Given the description of an element on the screen output the (x, y) to click on. 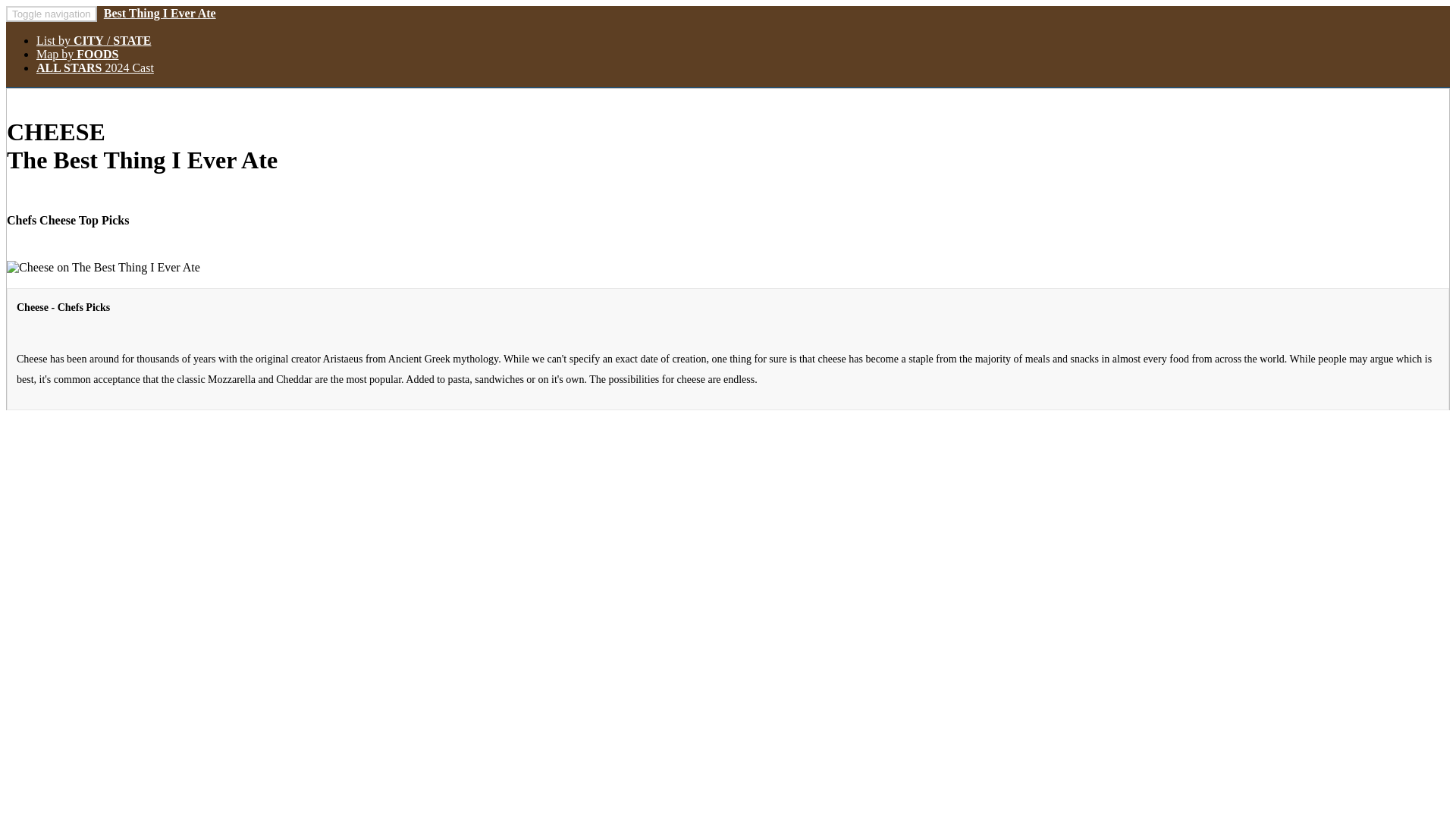
Toggle navigation (51, 13)
Map by FOODS (76, 53)
ALL STARS 2024 Cast (95, 67)
Best Thing I Ever Ate (157, 12)
